Given the description of an element on the screen output the (x, y) to click on. 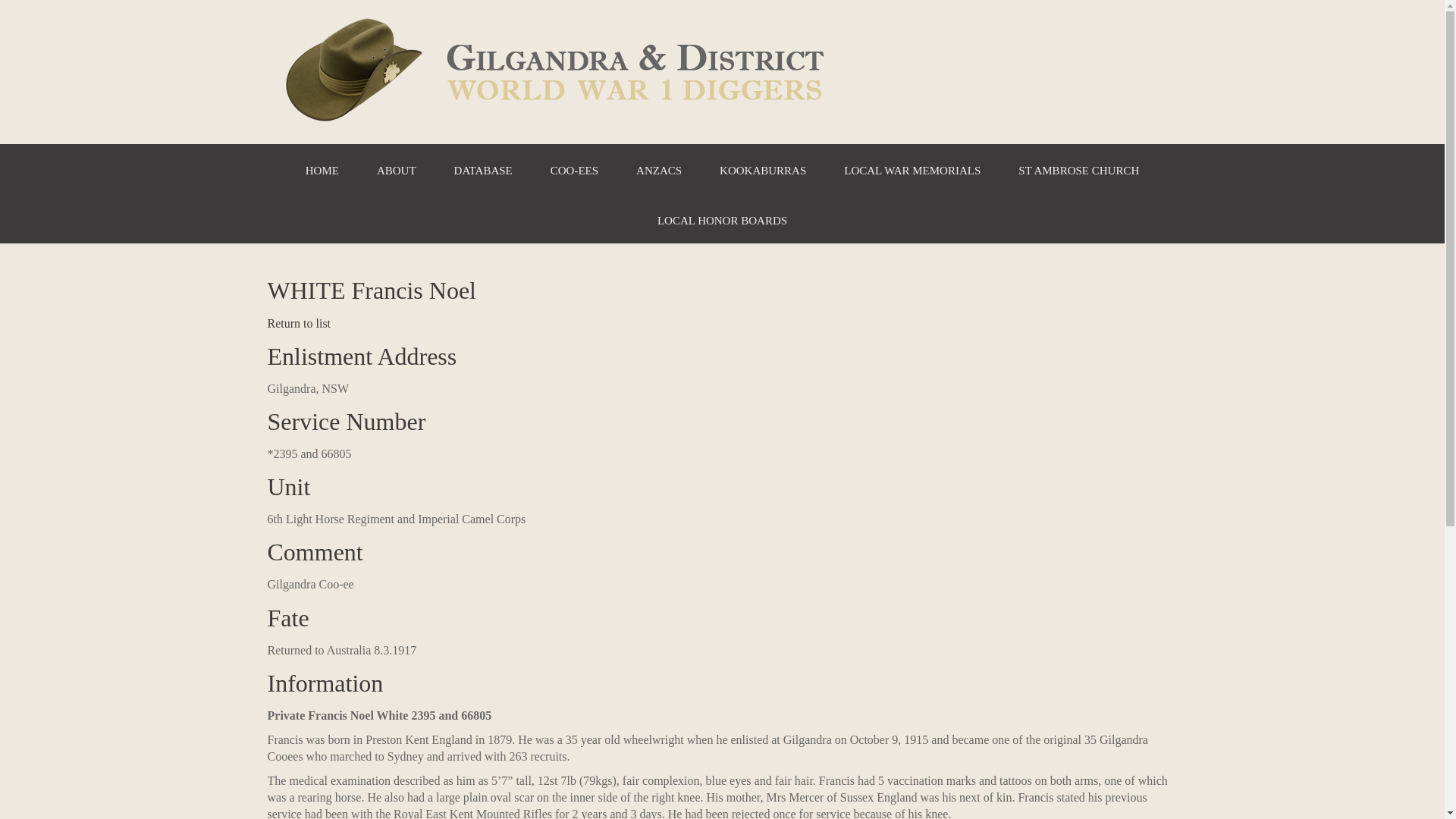
DATABASE Element type: text (483, 169)
KOOKABURRAS Element type: text (762, 169)
Return to list Element type: text (298, 322)
HOME Element type: text (321, 169)
ANZACS Element type: text (658, 169)
LOCAL WAR MEMORIALS Element type: text (912, 169)
ABOUT Element type: text (396, 169)
COO-EES Element type: text (574, 169)
LOCAL HONOR BOARDS Element type: text (722, 219)
ST AMBROSE CHURCH Element type: text (1078, 169)
